Given the description of an element on the screen output the (x, y) to click on. 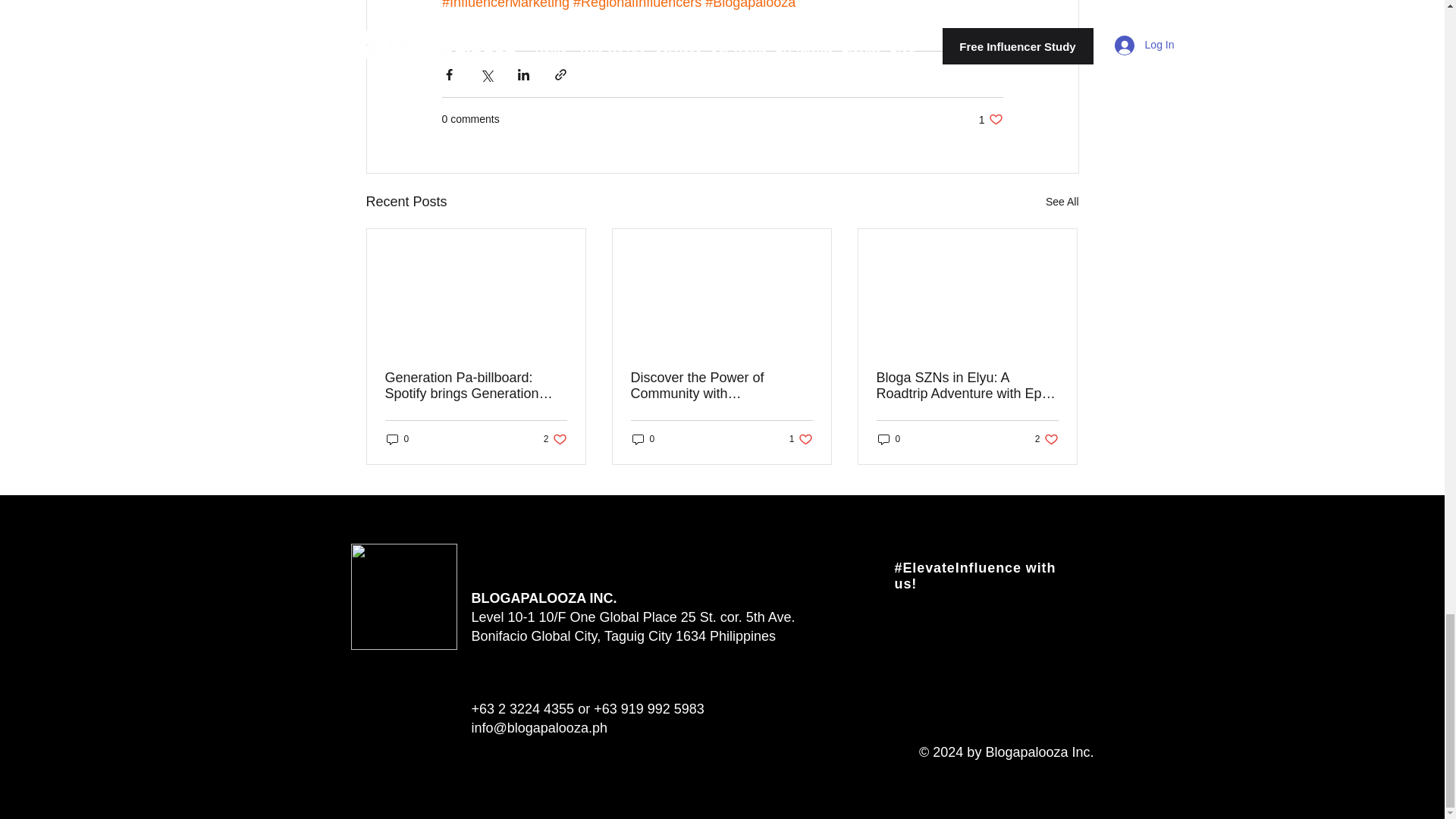
Discover the Power of Community with Blogapalooza (721, 386)
0 (800, 439)
See All (643, 439)
0 (555, 439)
